Given the description of an element on the screen output the (x, y) to click on. 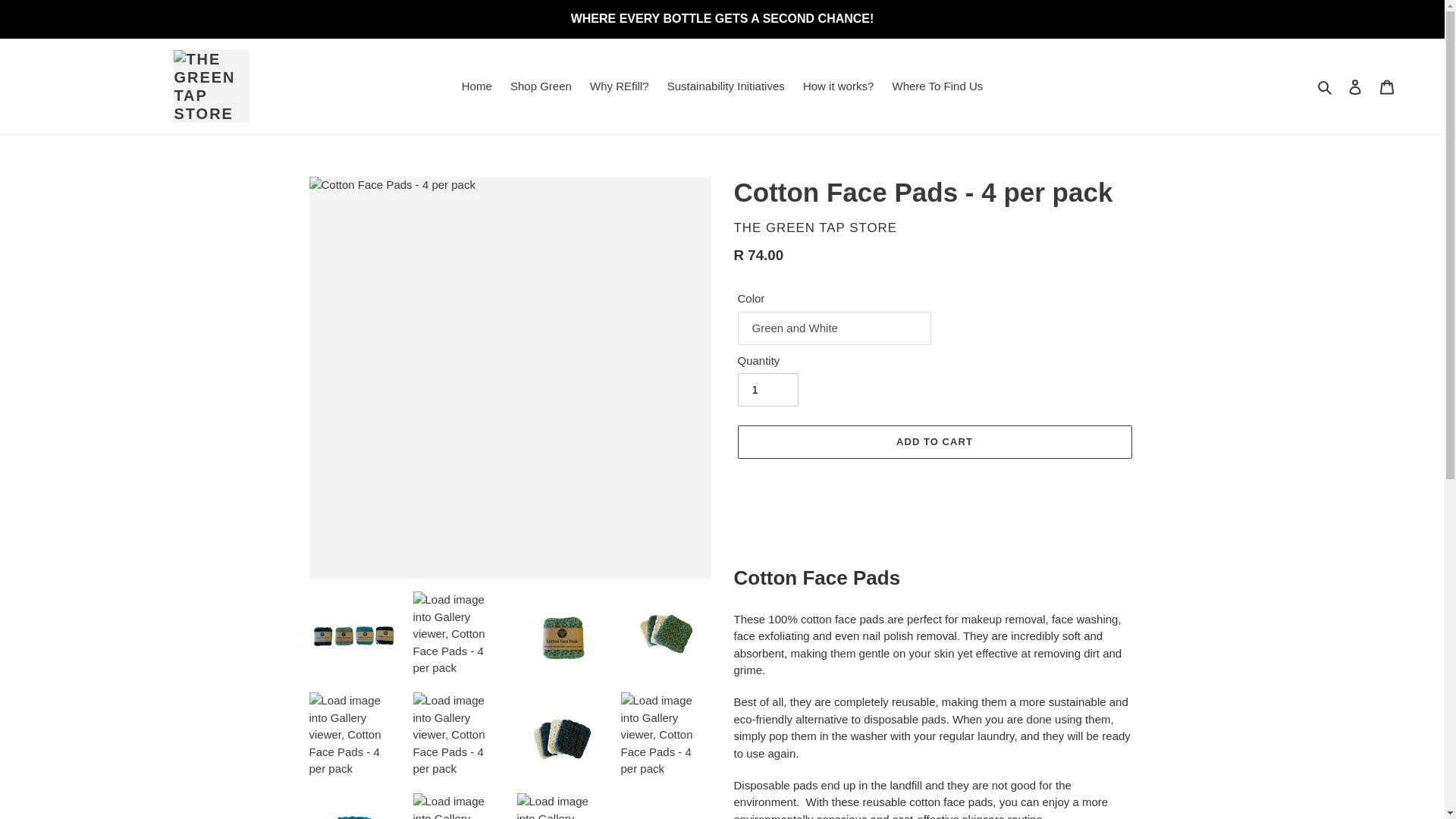
Search (1326, 86)
How it works? (837, 86)
Home (476, 86)
1 (766, 389)
Log in (1355, 86)
Cart (1387, 86)
ADD TO CART (933, 441)
Shop Green (540, 86)
Sustainability Initiatives (725, 86)
Why REfill? (619, 86)
Where To Find Us (936, 86)
